Given the description of an element on the screen output the (x, y) to click on. 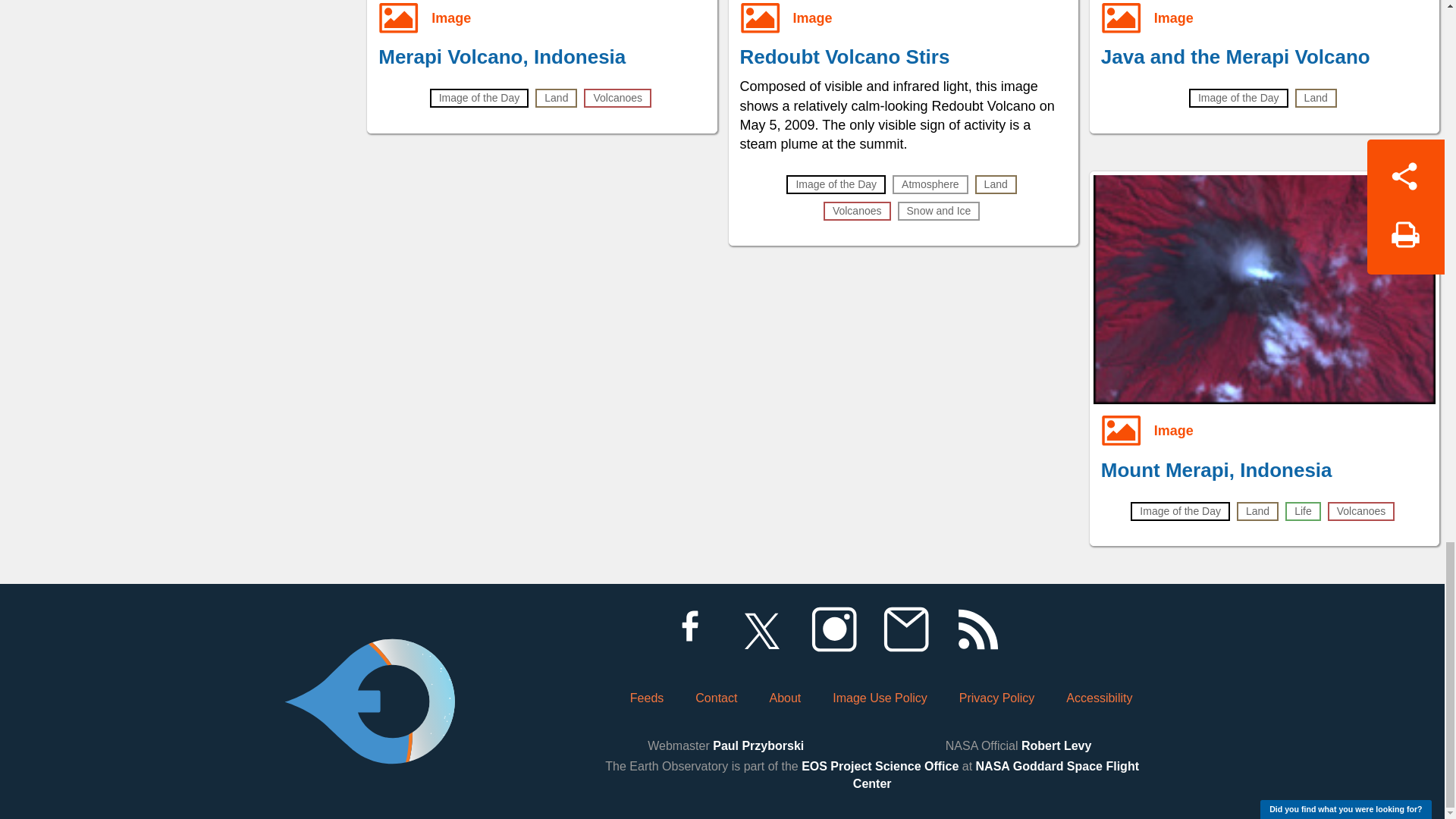
RSS (977, 629)
Earth Observatory (369, 659)
Twitter (761, 629)
Facebook (689, 629)
Subscribe (905, 629)
Instagram (833, 629)
